Given the description of an element on the screen output the (x, y) to click on. 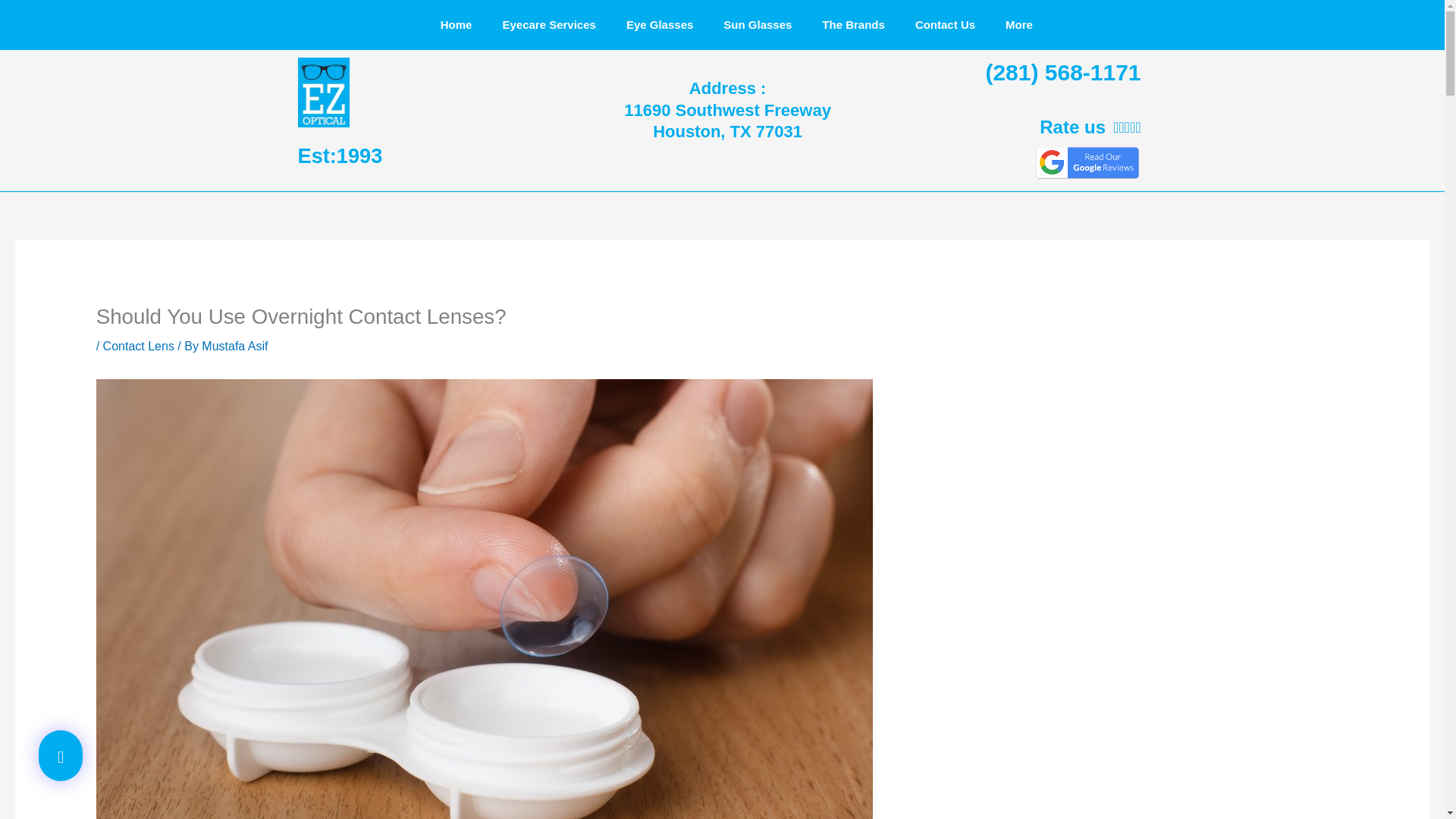
Eyecare Services (548, 24)
Contact Us (944, 24)
View all posts by Mustafa Asif (234, 345)
Sun Glasses (756, 24)
More (1019, 24)
Home (456, 24)
Eye Glasses (659, 24)
The Brands (852, 24)
